Given the description of an element on the screen output the (x, y) to click on. 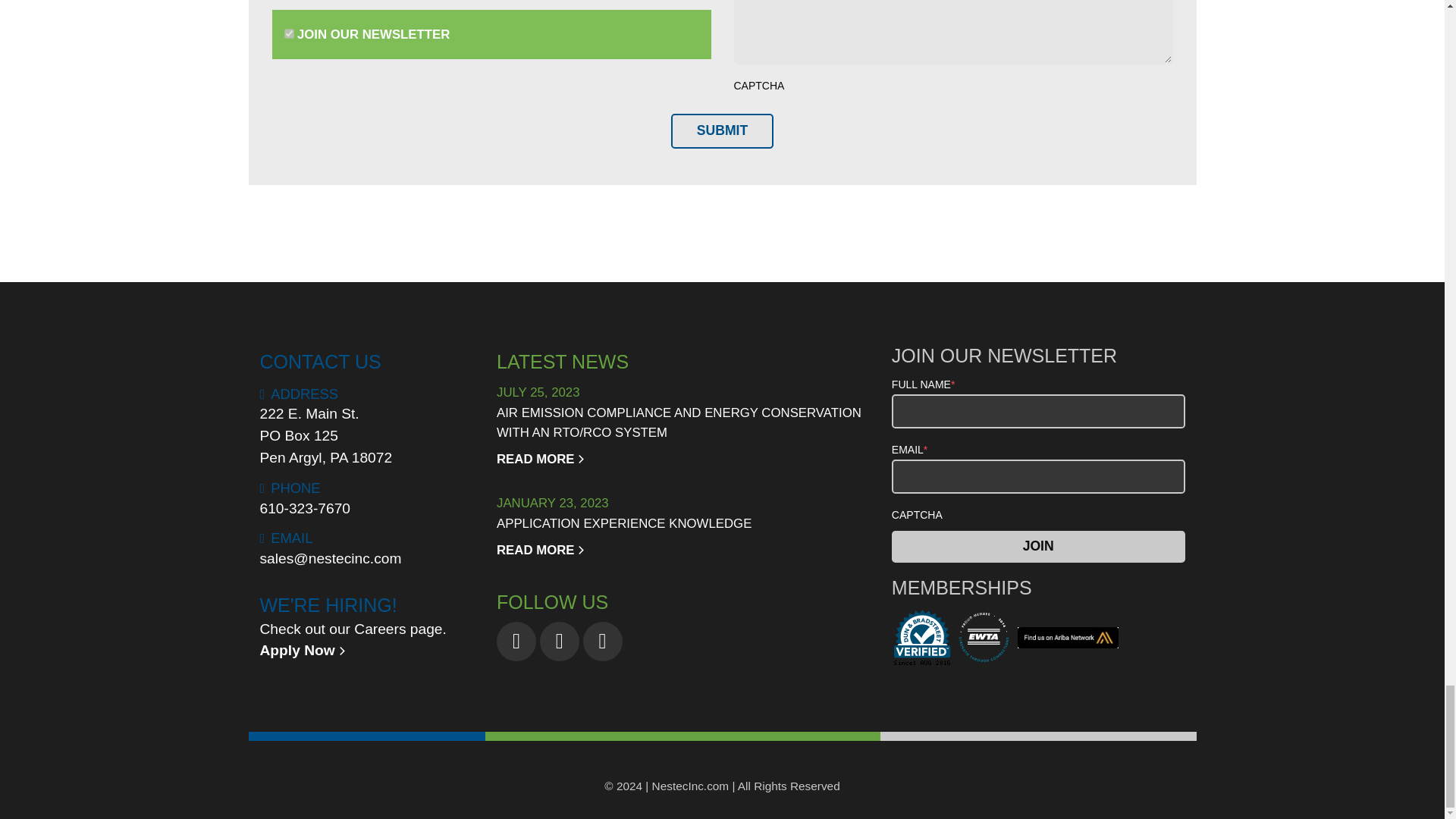
Submit (722, 130)
View Nestec, Inc. on Google Maps (325, 435)
Email Nestec, Inc. (330, 558)
Join Our Newsletter (288, 33)
Join (1038, 546)
Call Nestec, Inc. (304, 508)
Contact Nestec, Inc. Careers (352, 639)
